Given the description of an element on the screen output the (x, y) to click on. 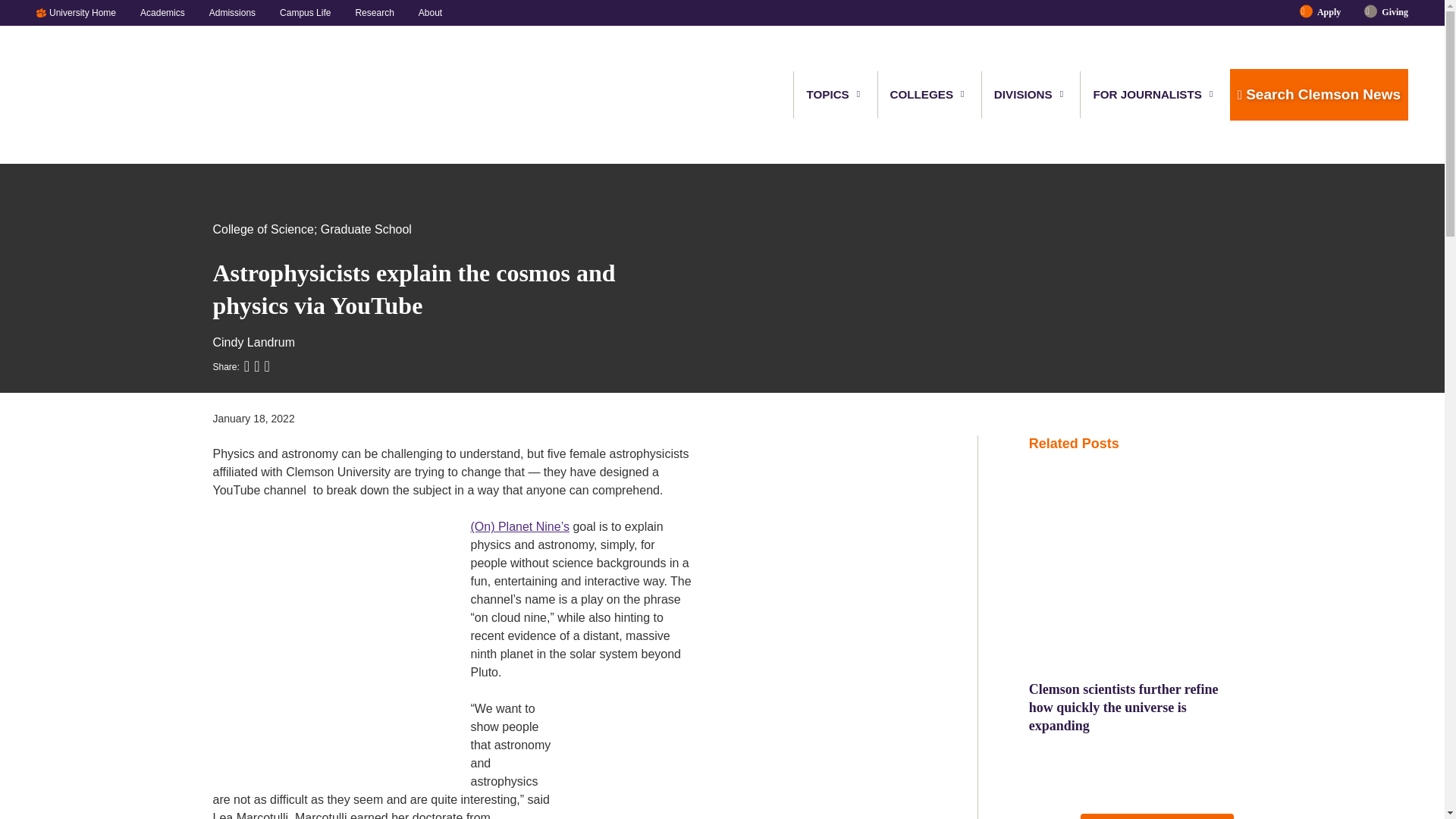
Giving (1388, 11)
TOPICS (828, 94)
Campus Life (304, 12)
Research (374, 12)
University Home (88, 12)
DIVISIONS (1023, 94)
Apply (1328, 11)
Posts by Cindy Landrum (253, 341)
About (424, 12)
Admissions (231, 12)
Academics (162, 12)
COLLEGES (922, 94)
Clemson News (114, 94)
